Given the description of an element on the screen output the (x, y) to click on. 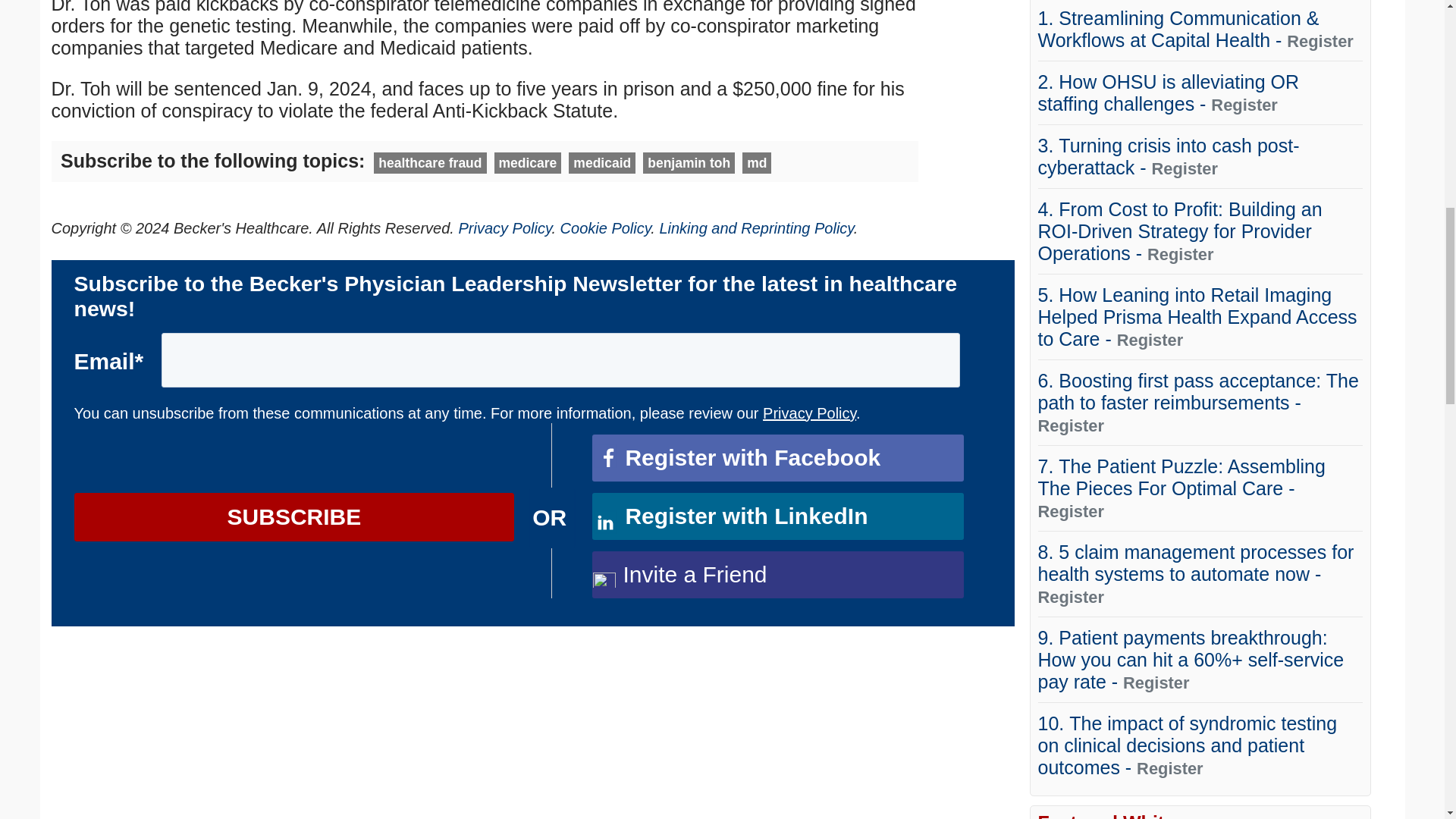
SUBSCRIBE (294, 517)
